Given the description of an element on the screen output the (x, y) to click on. 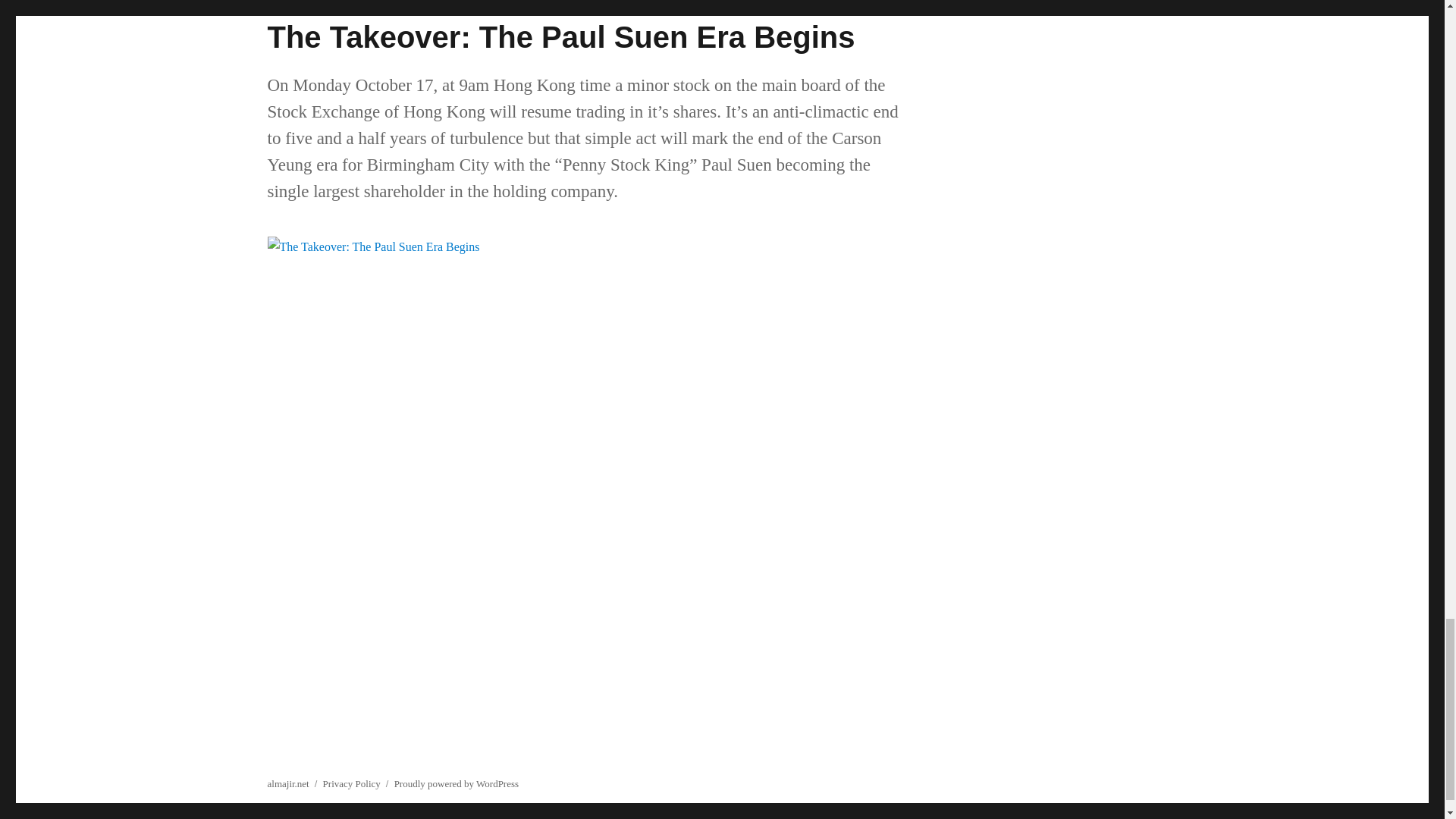
Privacy Policy (351, 783)
almajir.net (287, 783)
The Takeover: The Paul Suen Era Begins (560, 37)
Proudly powered by WordPress (456, 783)
